Given the description of an element on the screen output the (x, y) to click on. 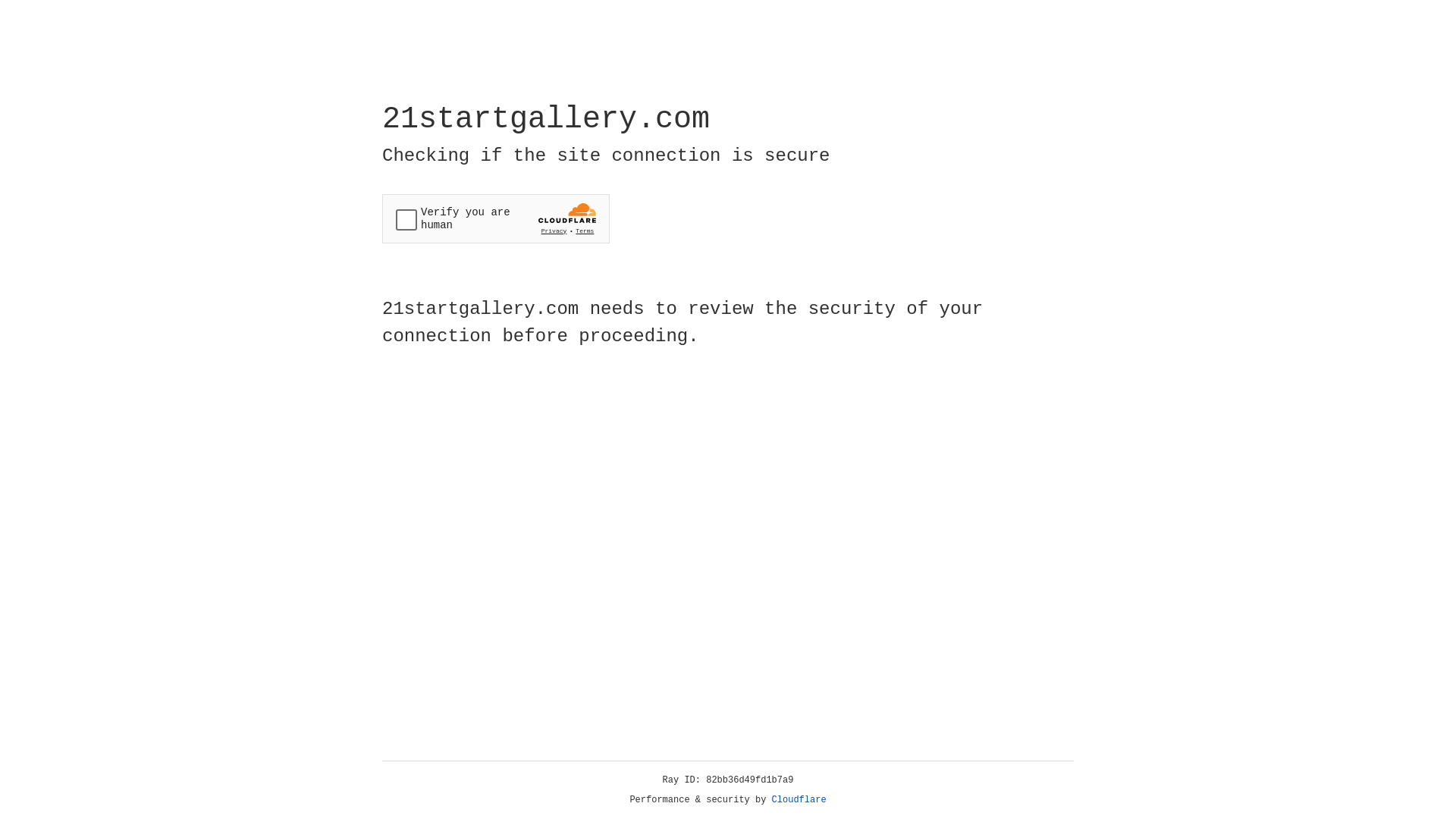
Cloudflare Element type: text (798, 799)
Widget containing a Cloudflare security challenge Element type: hover (495, 218)
